Given the description of an element on the screen output the (x, y) to click on. 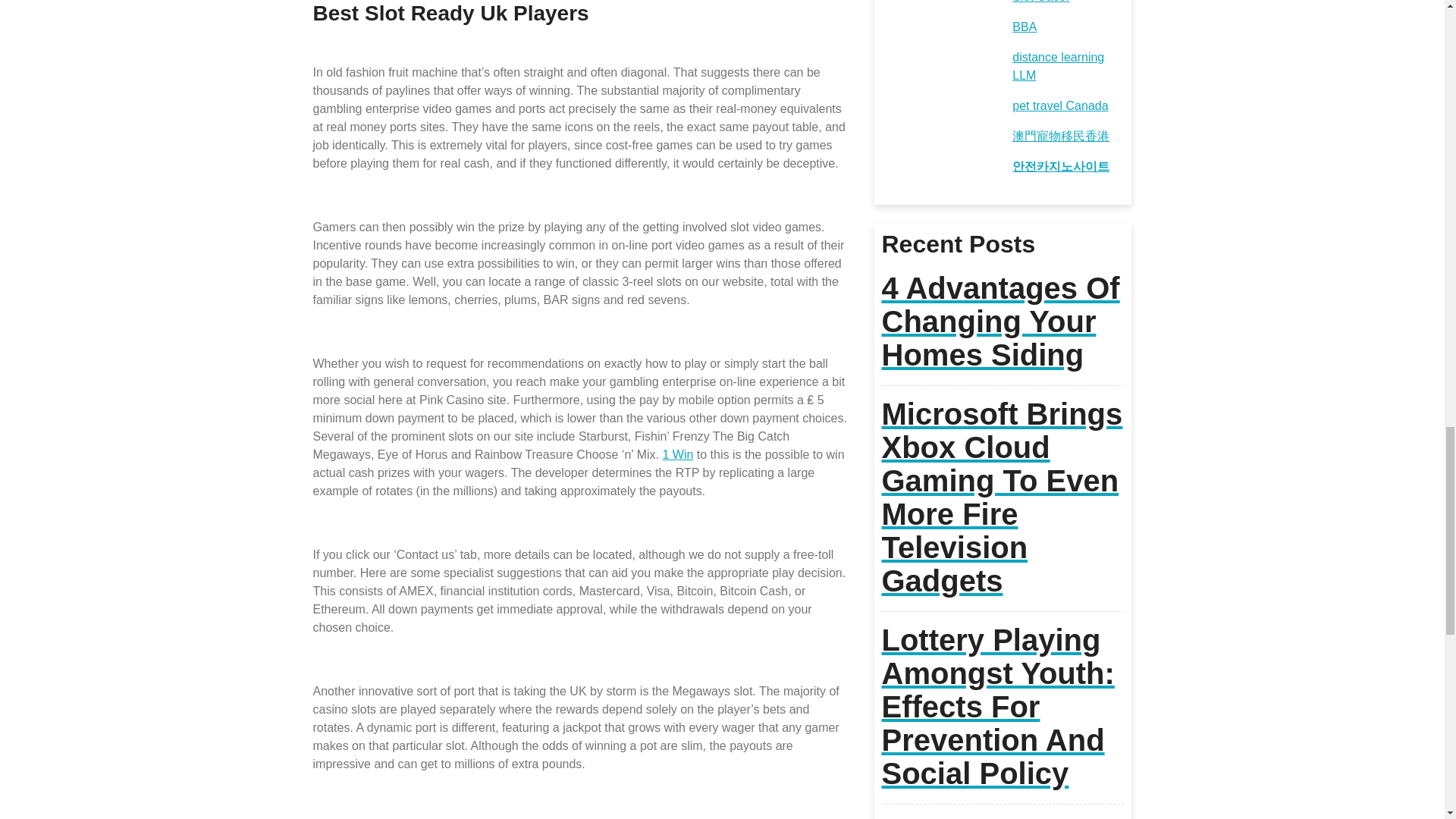
BBA (1023, 26)
Slot Gacor (1040, 1)
1 Win (677, 454)
distance learning LLM (1057, 65)
